Given the description of an element on the screen output the (x, y) to click on. 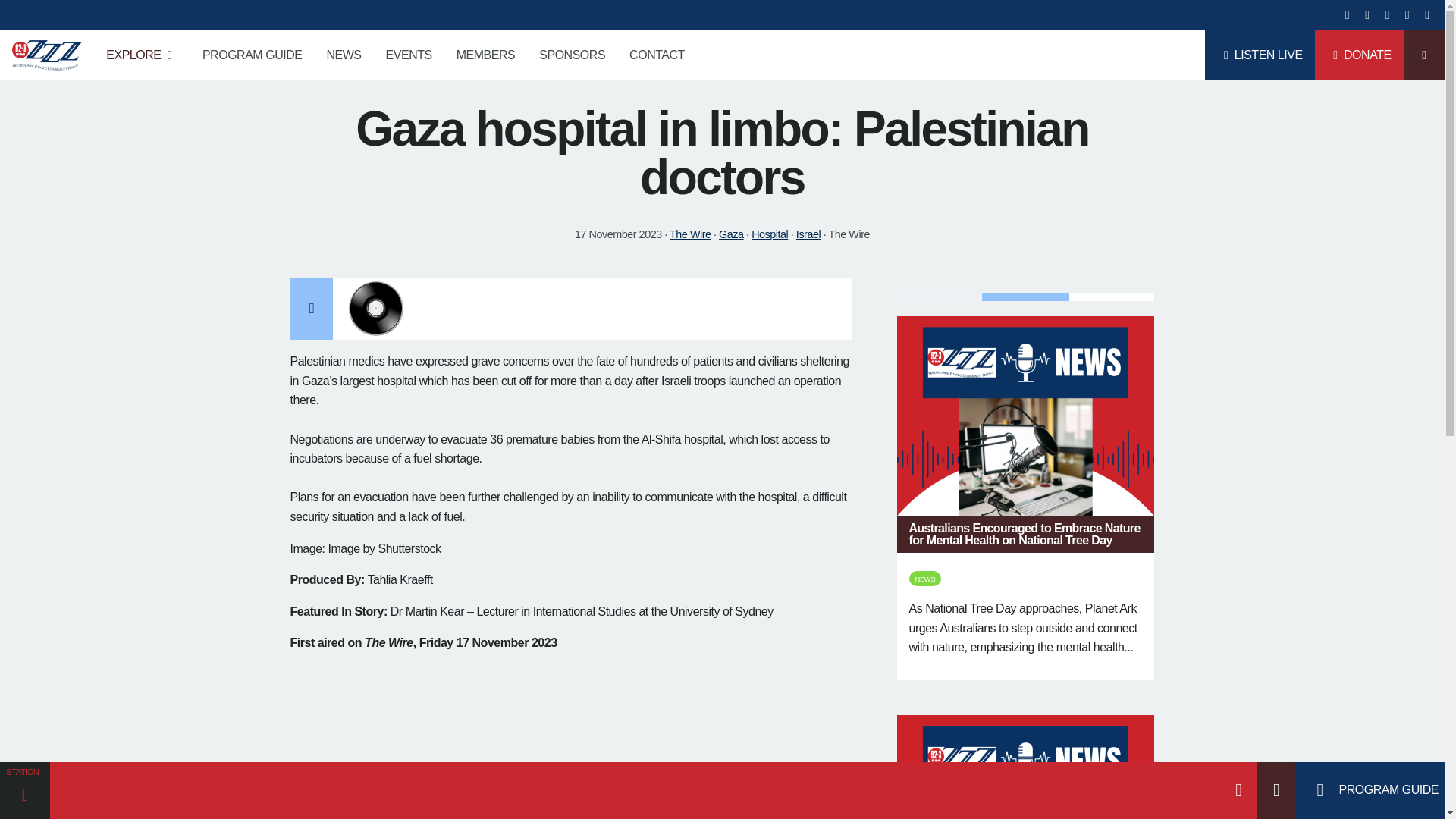
EXPLORE (142, 55)
EVENTS (409, 55)
MEMBERS (485, 55)
LISTEN LIVE (1259, 55)
DONATE (1358, 55)
NEWS (343, 55)
